Given the description of an element on the screen output the (x, y) to click on. 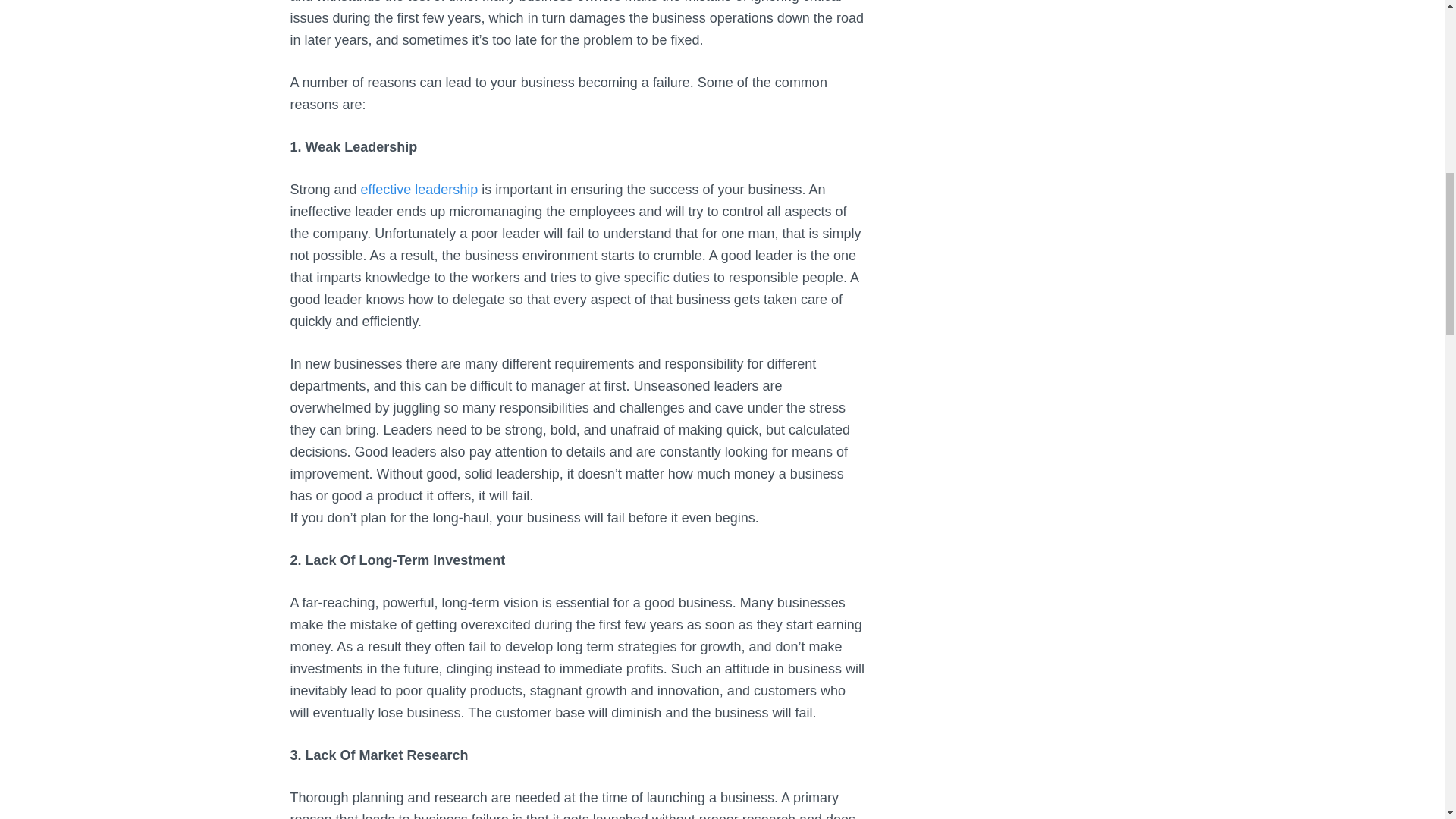
effective leadership (420, 189)
